Given the description of an element on the screen output the (x, y) to click on. 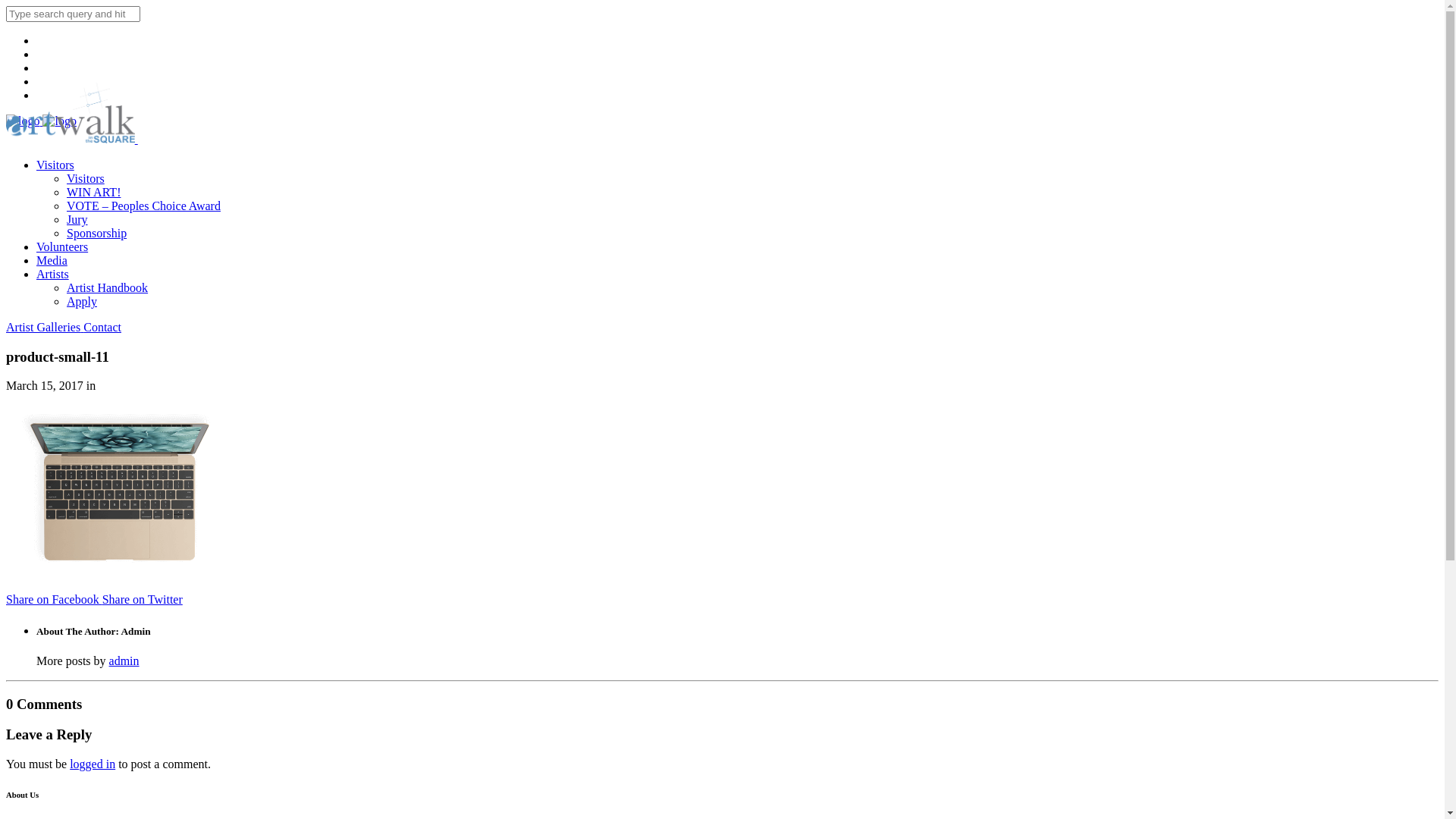
WIN ART! Element type: text (93, 191)
Artist Galleries Element type: text (44, 326)
Apply Element type: text (81, 300)
Media Element type: text (51, 260)
Volunteers Element type: text (61, 246)
Contact Element type: text (102, 326)
Jury Element type: text (76, 219)
Share on Facebook Element type: text (54, 599)
Share on Twitter Element type: text (142, 599)
Artist Handbook Element type: text (106, 287)
Sponsorship Element type: text (96, 232)
Visitors Element type: text (85, 178)
Visitors Element type: text (55, 164)
Artists Element type: text (52, 273)
admin Element type: text (124, 660)
logged in Element type: text (92, 763)
